Given the description of an element on the screen output the (x, y) to click on. 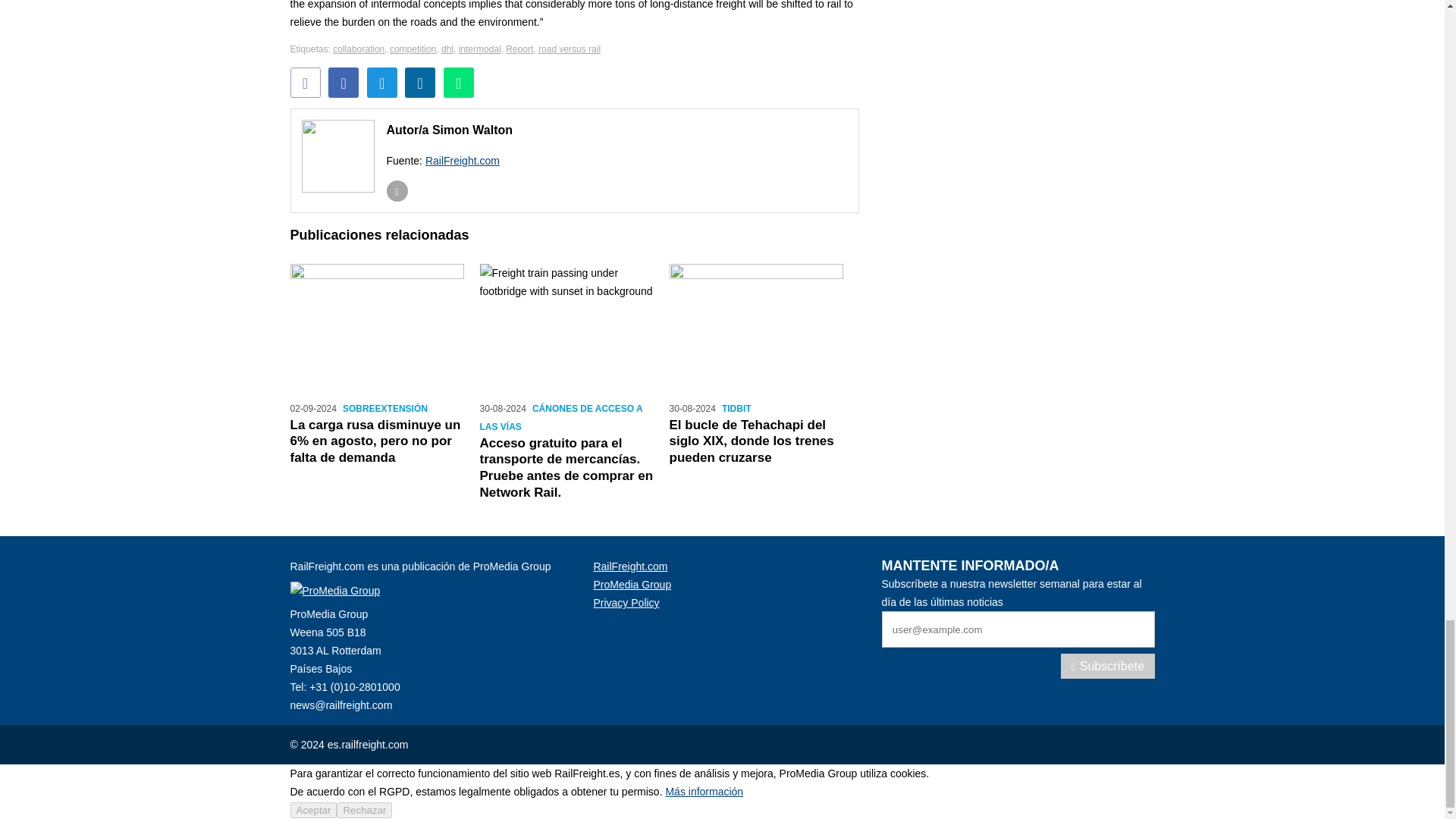
road versus rail (568, 49)
LinkedIn (419, 82)
Report (518, 49)
Twitter (381, 82)
Facebook (343, 82)
WhatsApp (459, 82)
RailFreight.com (462, 160)
E-mail (397, 190)
competition (412, 49)
collaboration (358, 49)
